Given the description of an element on the screen output the (x, y) to click on. 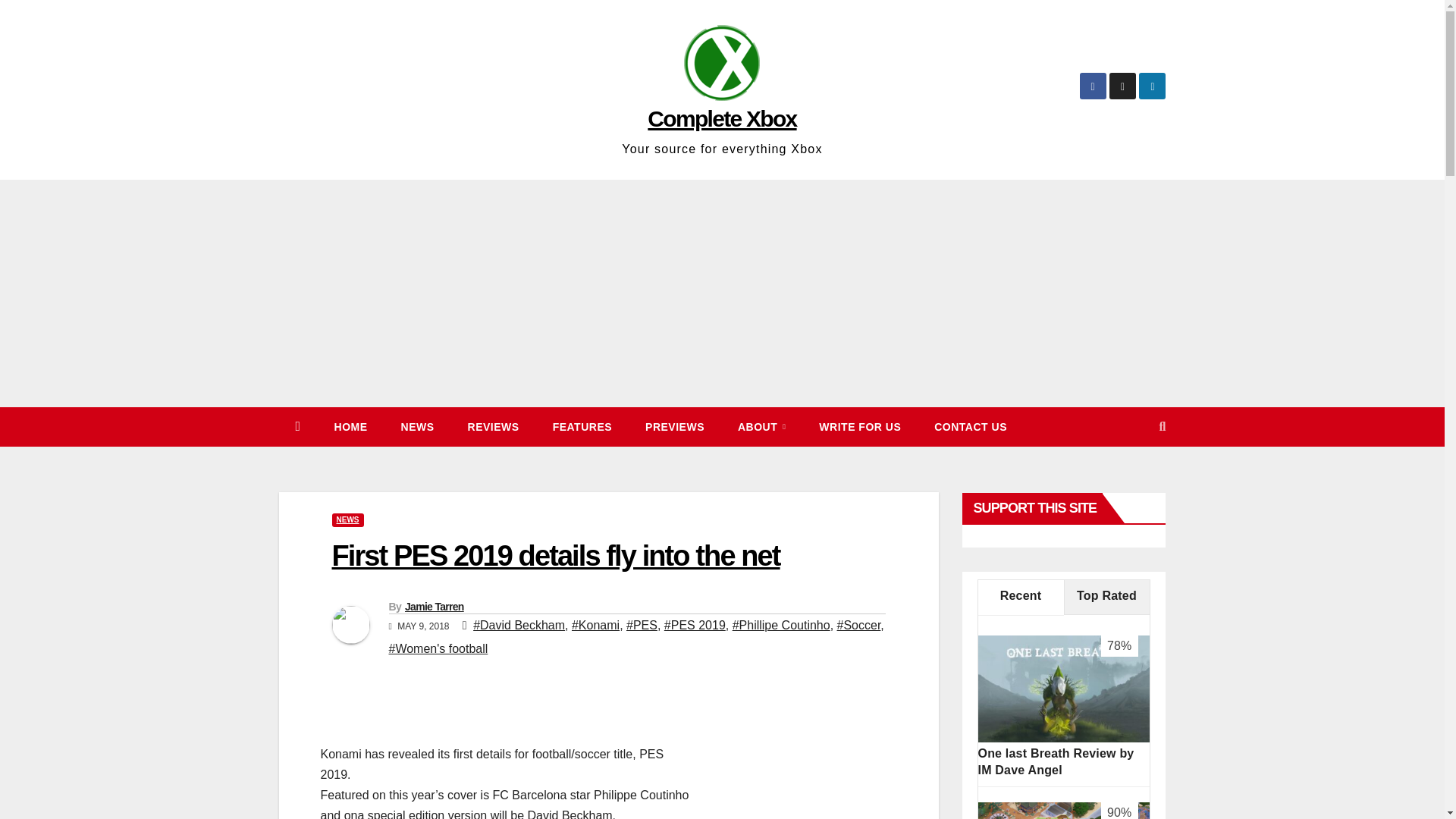
ABOUT (761, 426)
CONTACT US (970, 426)
About (761, 426)
HOME (350, 426)
Home (350, 426)
PREVIEWS (674, 426)
Features (581, 426)
REVIEWS (493, 426)
Reviews (493, 426)
Previews (674, 426)
NEWS (417, 426)
Jamie Tarren (434, 606)
WRITE FOR US (859, 426)
Contact us (970, 426)
